Given the description of an element on the screen output the (x, y) to click on. 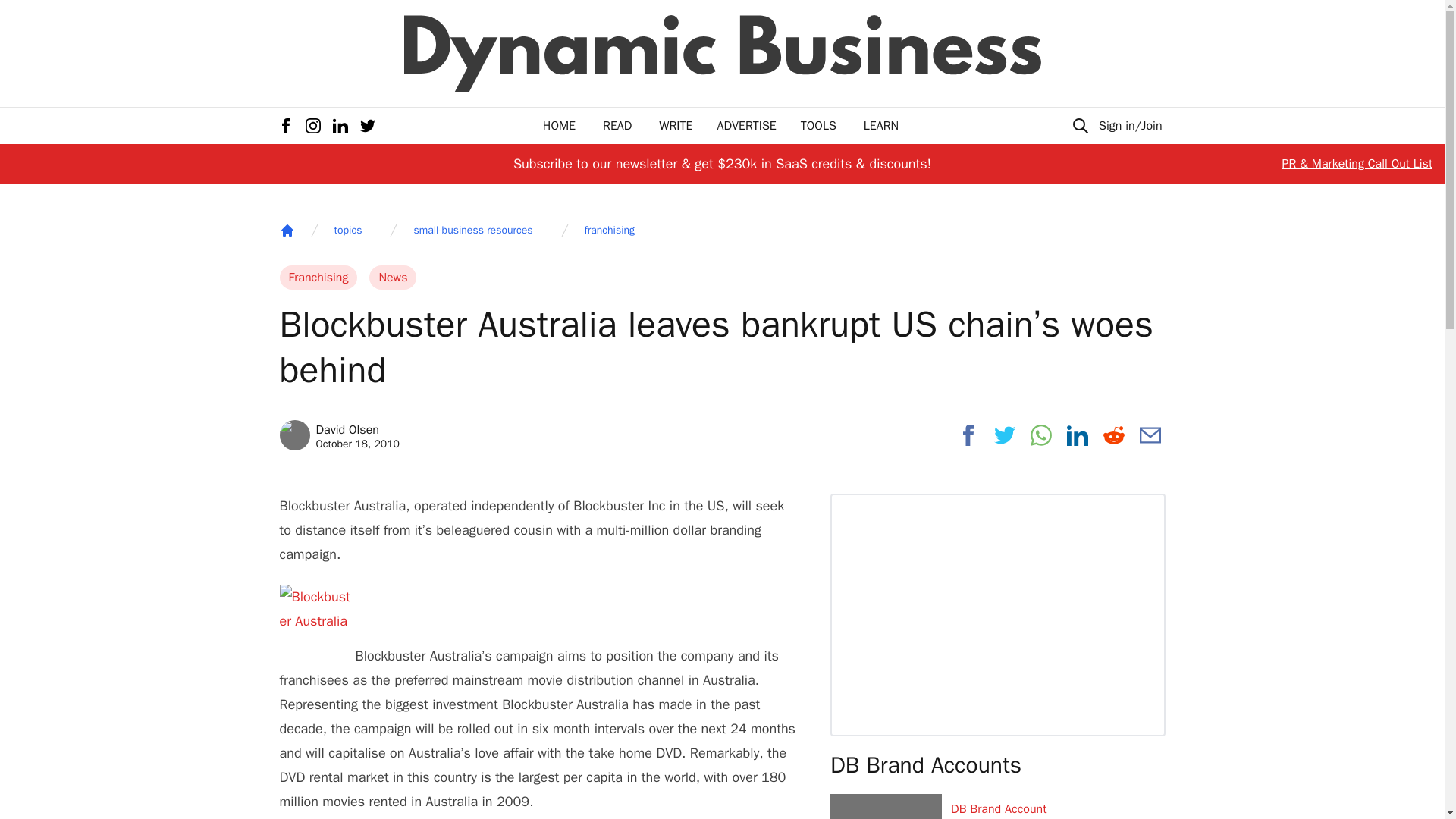
WRITE (676, 126)
LEARN (880, 126)
HOME (559, 126)
small-business-resources (472, 230)
topics (347, 230)
franchising (338, 435)
News (609, 230)
Home (392, 277)
ADVERTISE (286, 230)
